Given the description of an element on the screen output the (x, y) to click on. 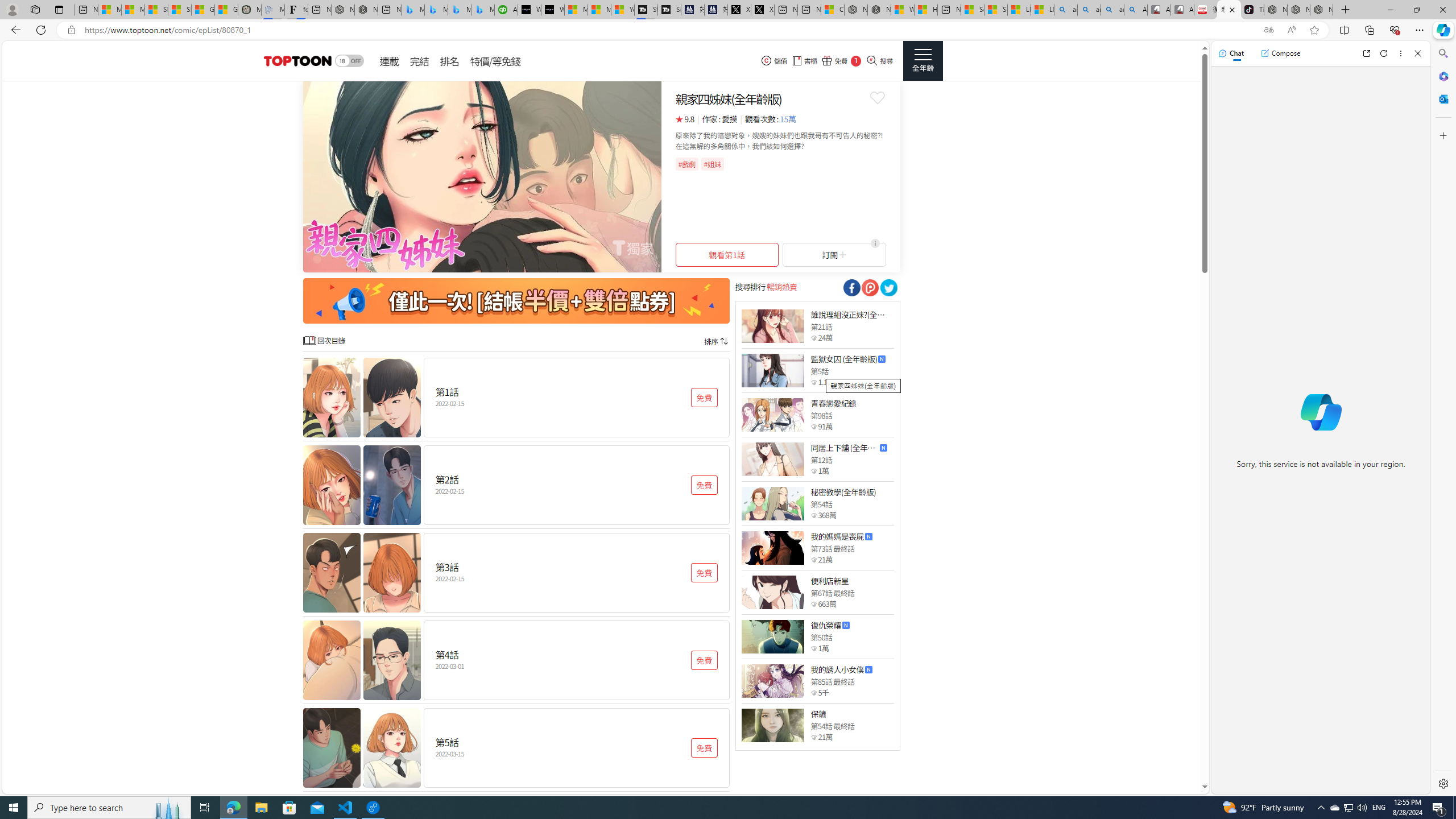
X (761, 9)
Wildlife - MSN (902, 9)
Outlook (1442, 98)
Amazon Echo Robot - Search Images (1135, 9)
Shanghai, China weather forecast | Microsoft Weather (179, 9)
Class: swiper-slide (481, 176)
